Given the description of an element on the screen output the (x, y) to click on. 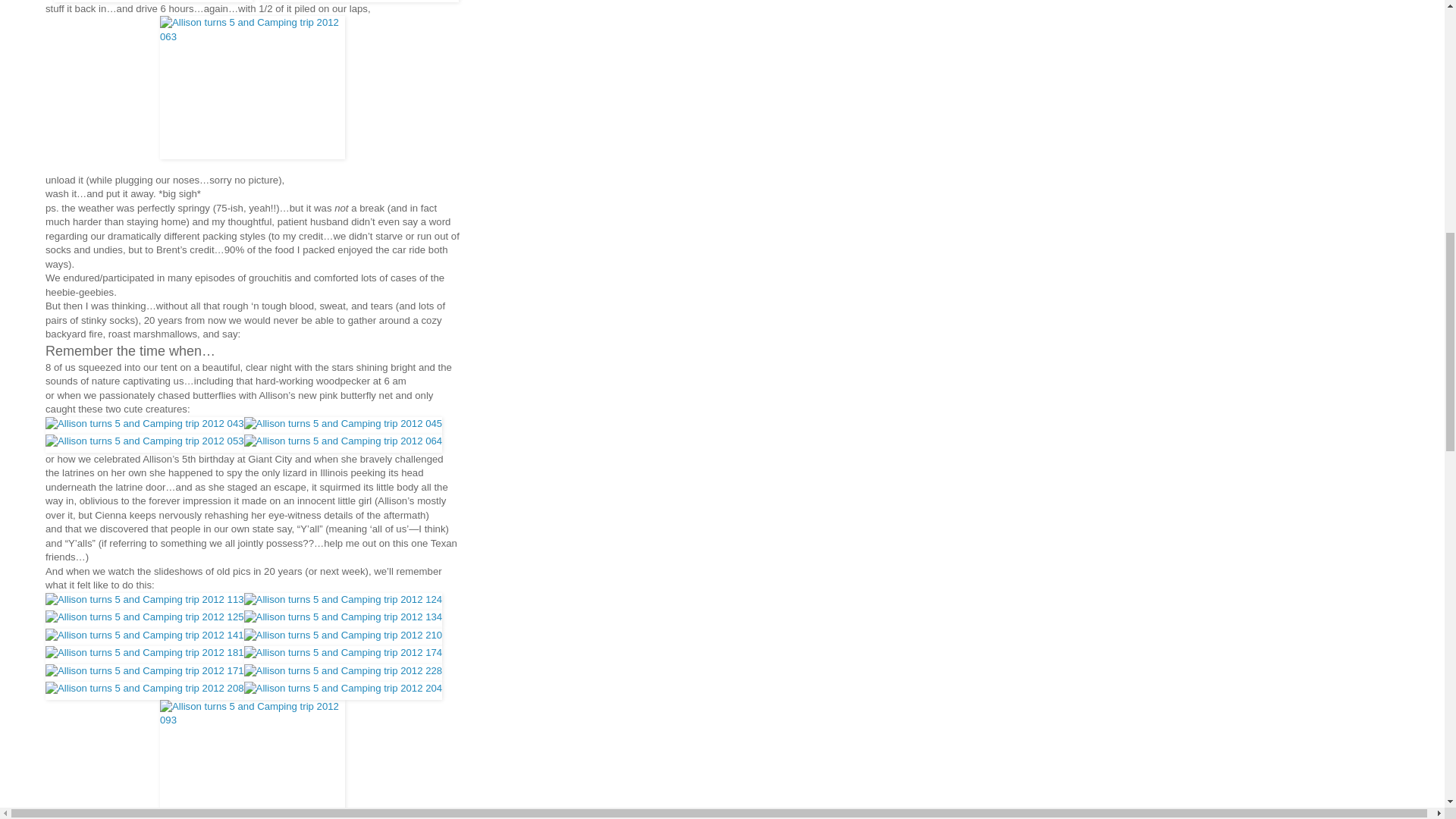
Allison turns 5 and Camping trip 2012 125 (144, 619)
Allison turns 5 and Camping trip 2012 045 (343, 425)
Allison turns 5 and Camping trip 2012 124 (343, 601)
Allison turns 5 and Camping trip 2012 113 (144, 601)
Allison turns 5 and Camping trip 2012 063 (252, 86)
Allison turns 5 and Camping trip 2012 134 (343, 619)
Allison turns 5 and Camping trip 2012 053 (144, 443)
Allison turns 5 and Camping trip 2012 043 (144, 425)
Allison turns 5 and Camping trip 2012 210 (343, 637)
Allison turns 5 and Camping trip 2012 064 (343, 443)
Allison turns 5 and Camping trip 2012 141 (144, 637)
